Given the description of an element on the screen output the (x, y) to click on. 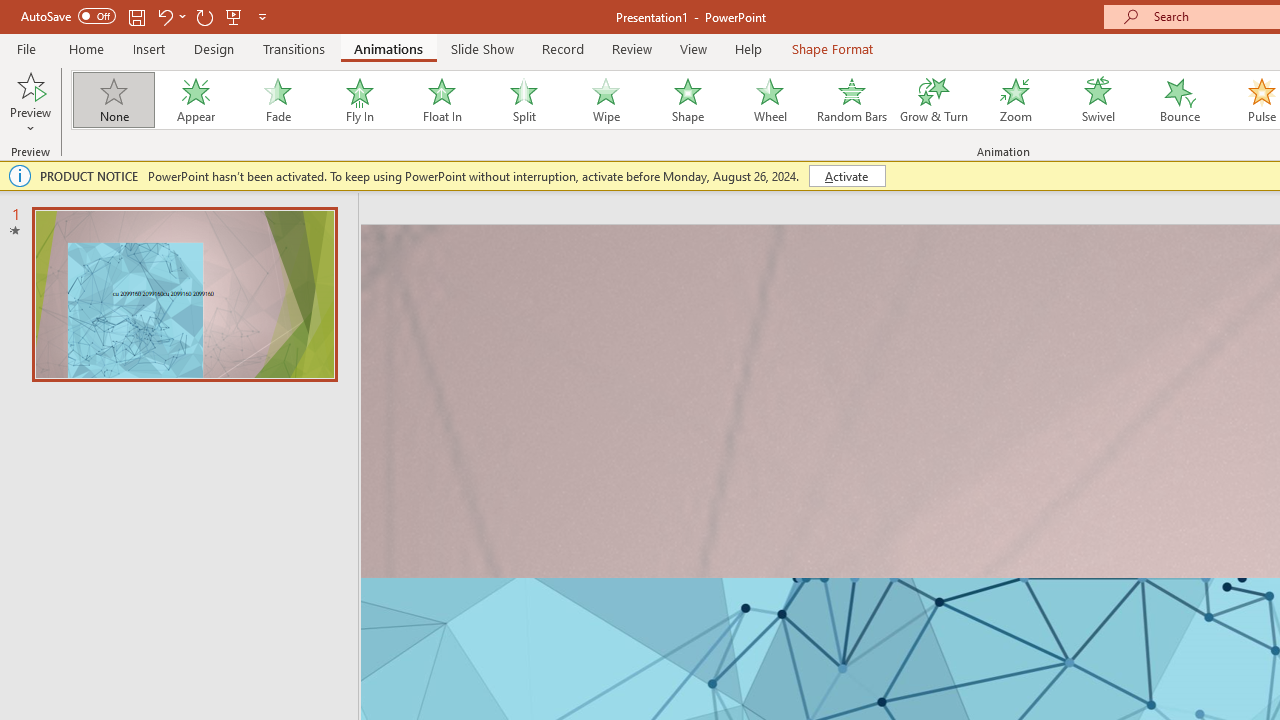
Random Bars (852, 100)
Float In (441, 100)
